Given the description of an element on the screen output the (x, y) to click on. 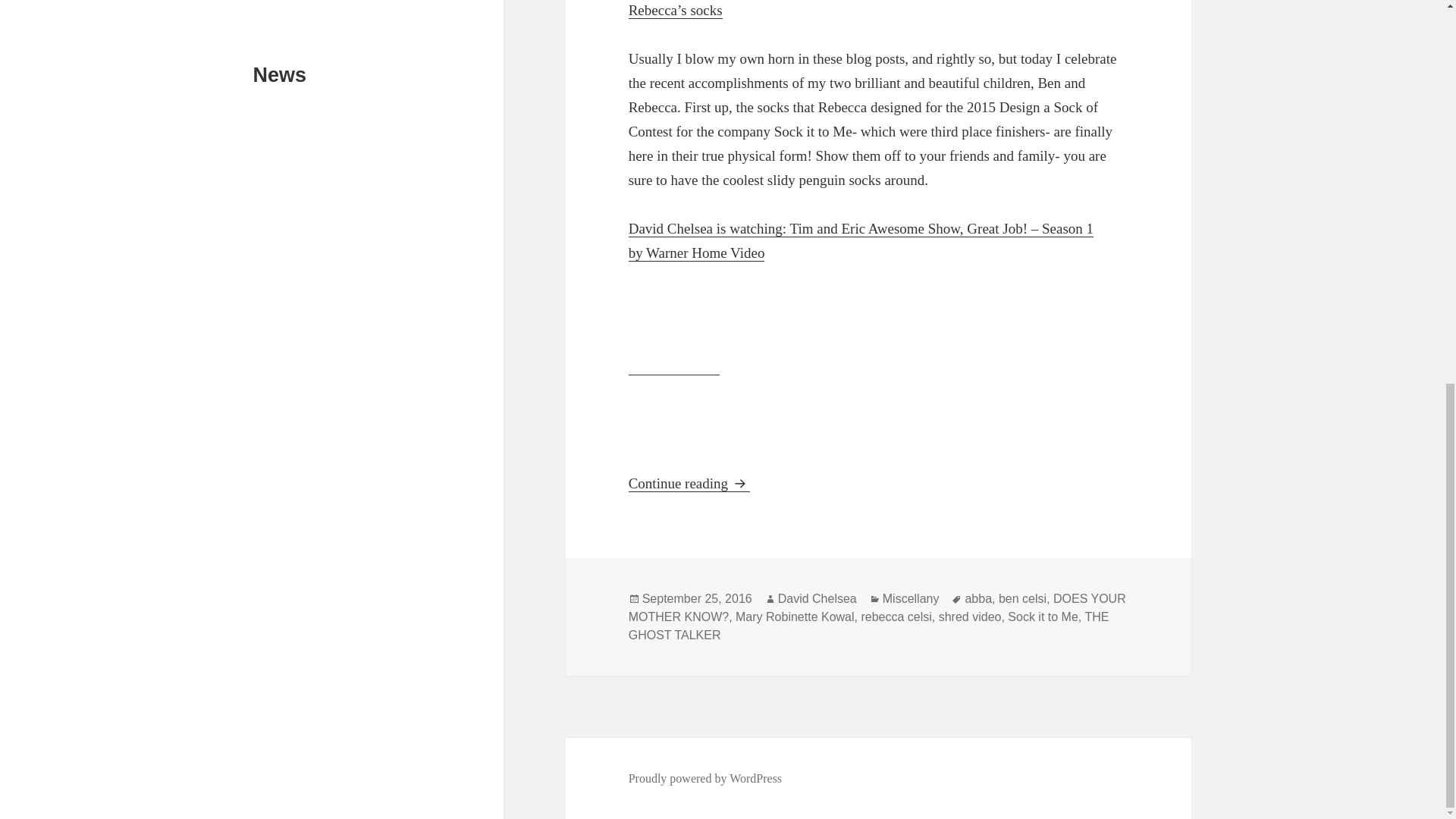
DOES YOUR MOTHER KNOW? (876, 608)
Miscellany (910, 599)
THE GHOST TALKER (868, 626)
ben celsi (1022, 599)
Sock it to Me (1042, 617)
shred video (970, 617)
David Chelsea (817, 599)
Mary Robinette Kowal (794, 617)
abba (977, 599)
